Given the description of an element on the screen output the (x, y) to click on. 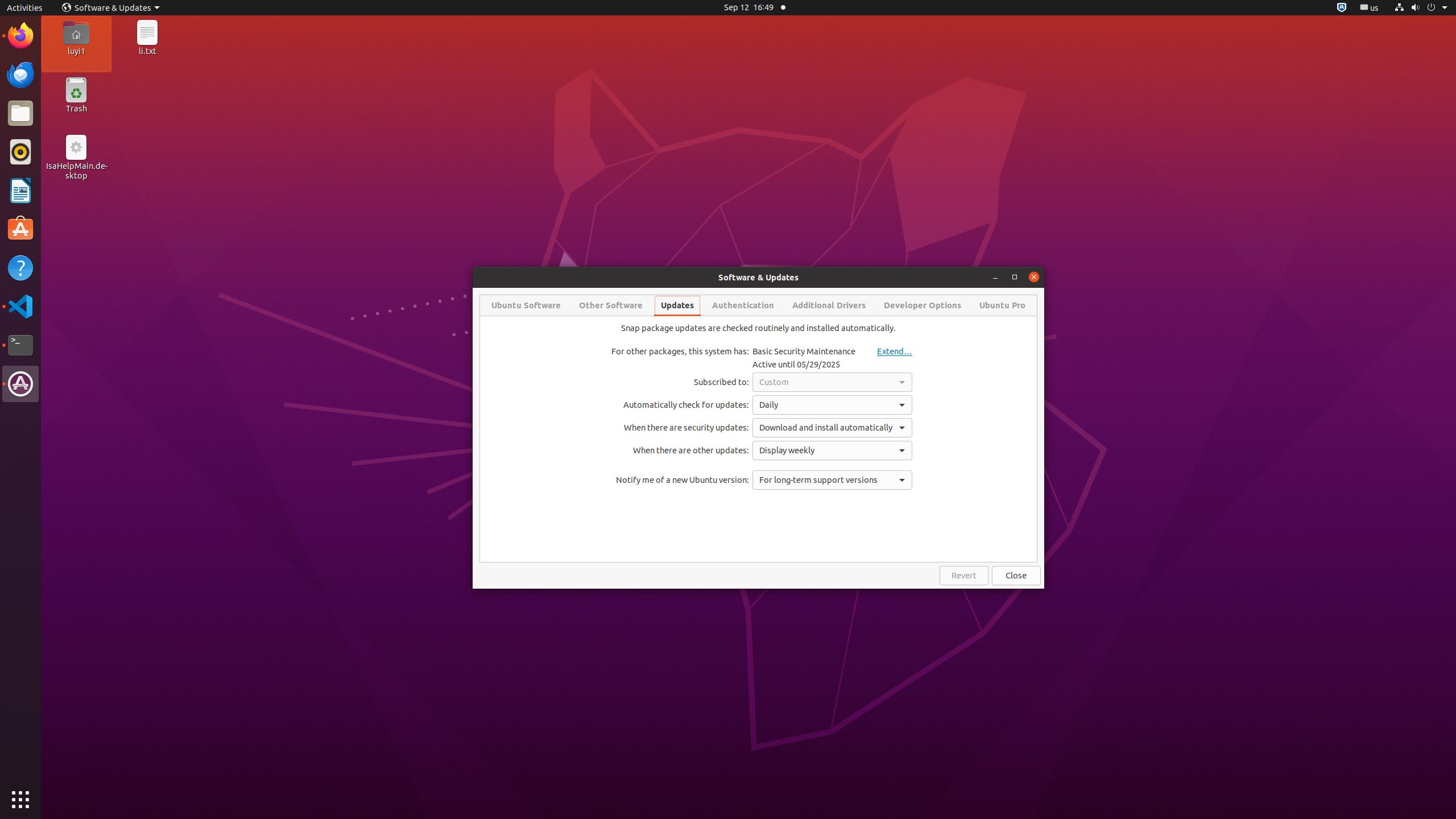
Display weekly Element type: combo-box (832, 450)
Trash Element type: label (75, 108)
